Given the description of an element on the screen output the (x, y) to click on. 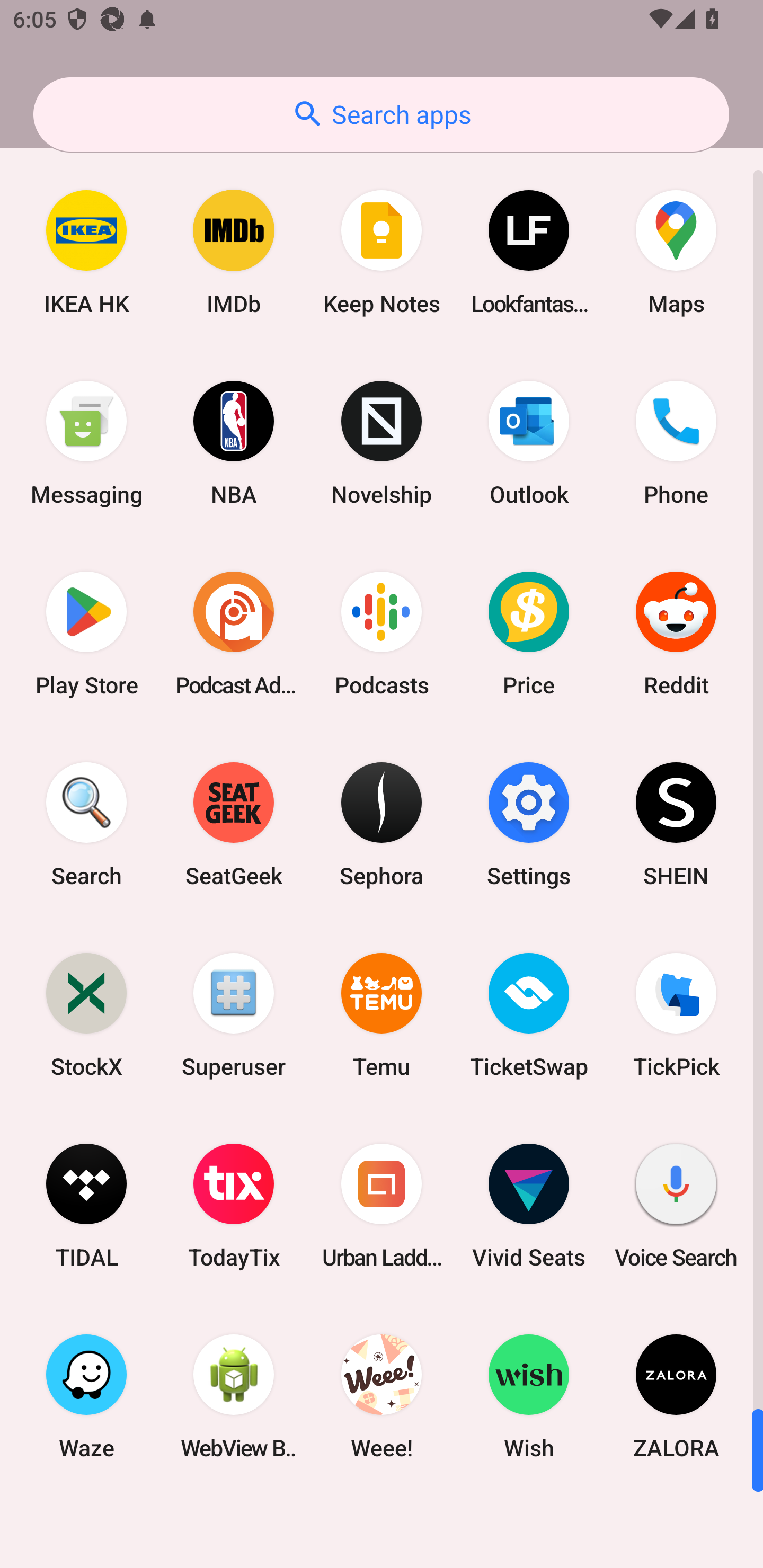
  Search apps (381, 114)
IKEA HK (86, 252)
IMDb (233, 252)
Keep Notes (381, 252)
Lookfantastic (528, 252)
Maps (676, 252)
Messaging (86, 442)
NBA (233, 442)
Novelship (381, 442)
Outlook (528, 442)
Phone (676, 442)
Play Store (86, 633)
Podcast Addict (233, 633)
Podcasts (381, 633)
Price (528, 633)
Reddit (676, 633)
Search (86, 823)
SeatGeek (233, 823)
Sephora (381, 823)
Settings (528, 823)
SHEIN (676, 823)
StockX (86, 1014)
Superuser (233, 1014)
Temu (381, 1014)
TicketSwap (528, 1014)
TickPick (676, 1014)
TIDAL (86, 1205)
TodayTix (233, 1205)
Urban Ladder (381, 1205)
Vivid Seats (528, 1205)
Voice Search (676, 1205)
Waze (86, 1396)
WebView Browser Tester (233, 1396)
Weee! (381, 1396)
Wish (528, 1396)
ZALORA (676, 1396)
